Given the description of an element on the screen output the (x, y) to click on. 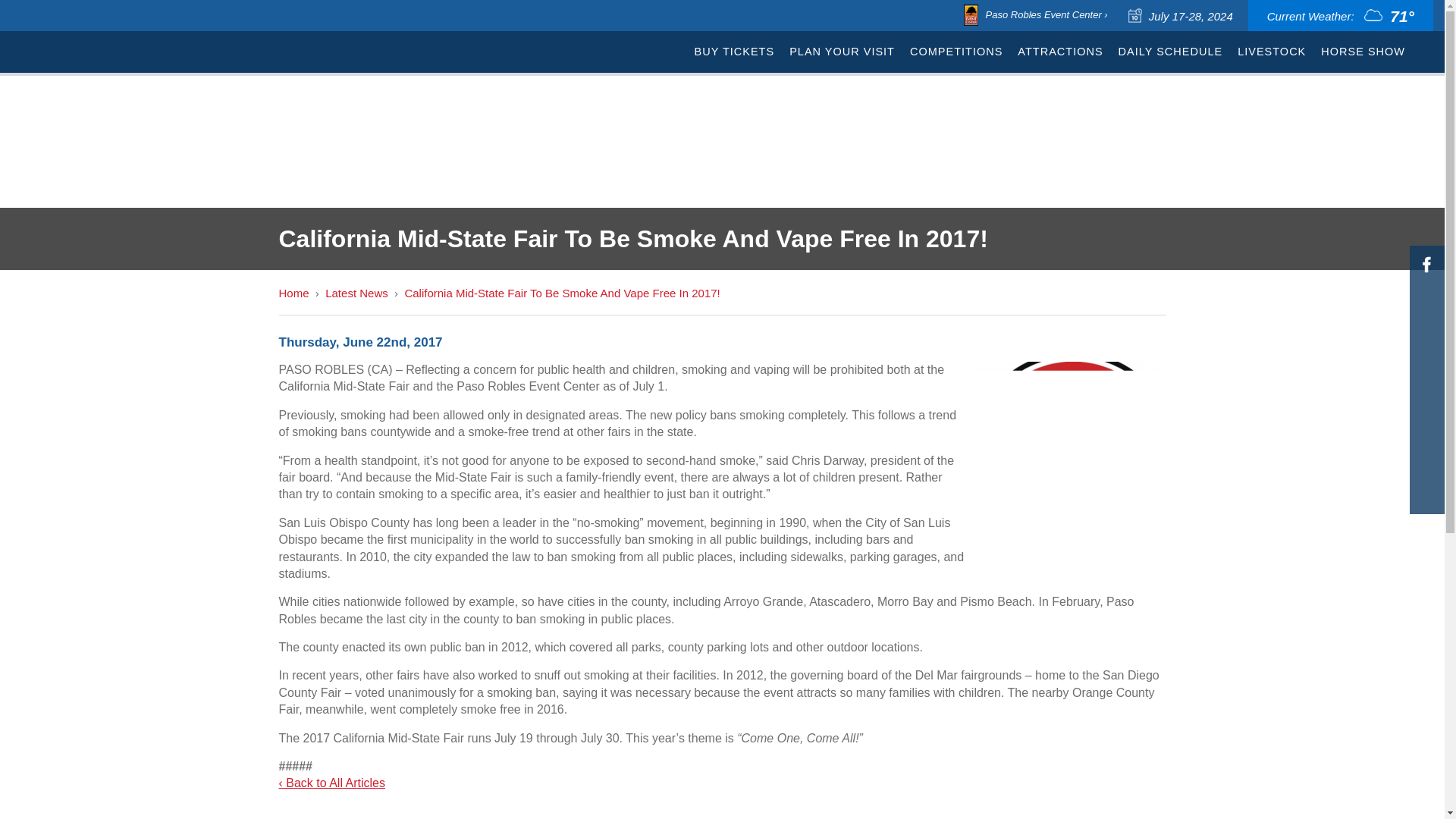
HORSE SHOW (1362, 51)
Spotify (1426, 379)
ATTRACTIONS (1059, 51)
LinkedIn (1426, 408)
Spotify (1426, 379)
YouTube (1426, 466)
Facebook (1426, 264)
Pinterest (1426, 437)
BUY TICKETS (734, 51)
Pinterest (1426, 437)
